Given the description of an element on the screen output the (x, y) to click on. 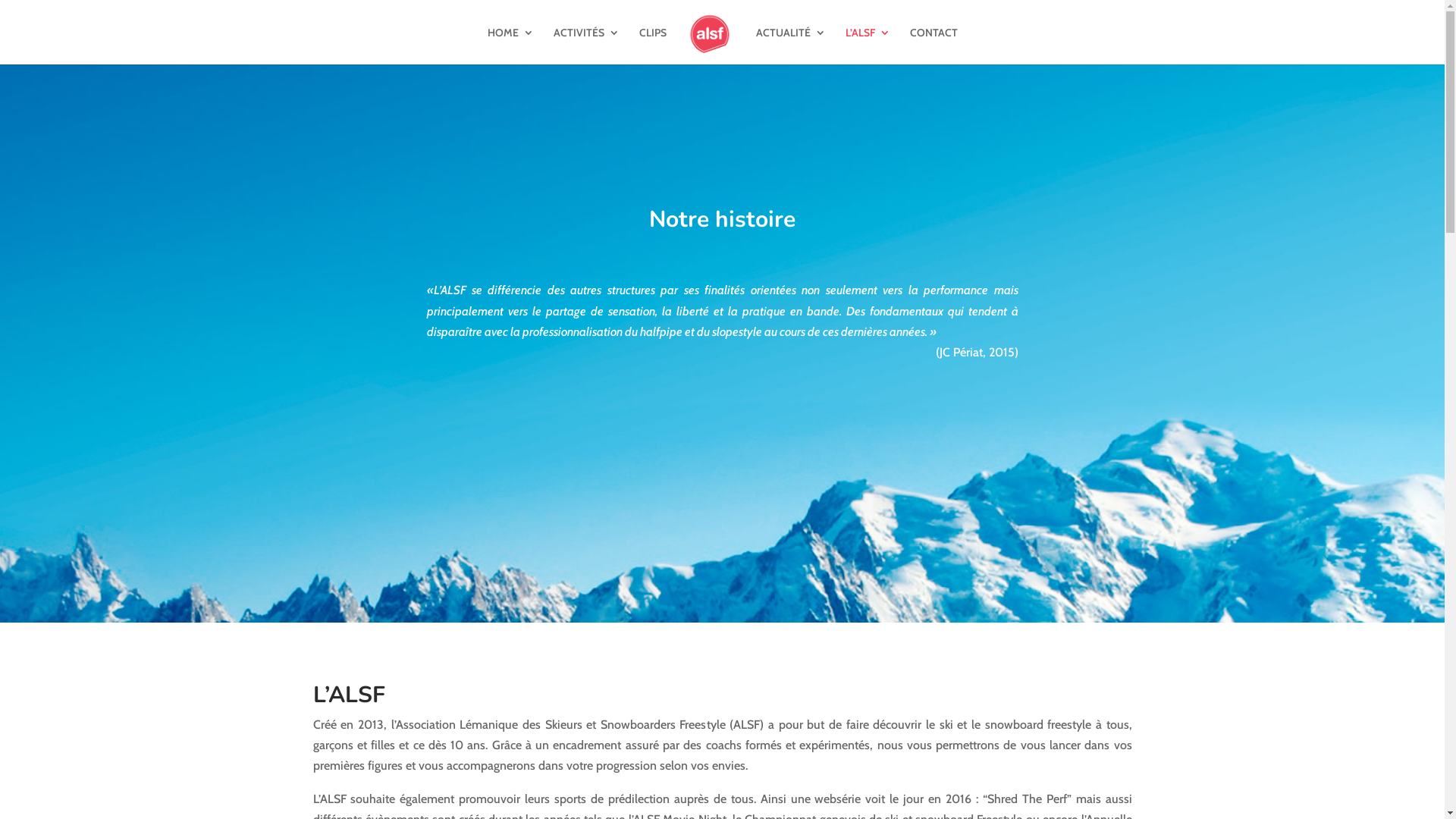
CONTACT Element type: text (933, 45)
HOME Element type: text (509, 45)
CLIPS Element type: text (651, 45)
